Given the description of an element on the screen output the (x, y) to click on. 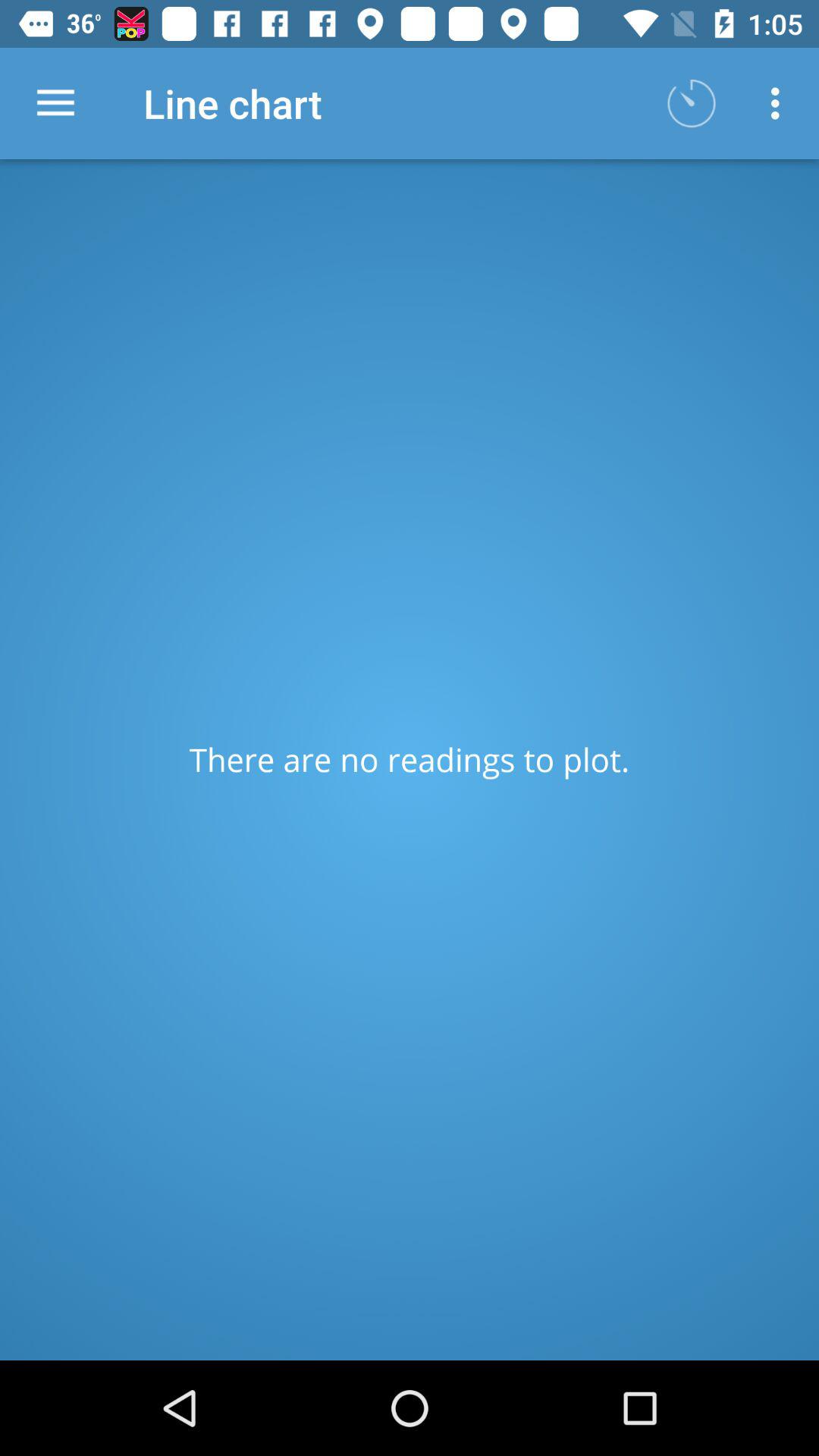
choose icon next to line chart item (55, 103)
